Given the description of an element on the screen output the (x, y) to click on. 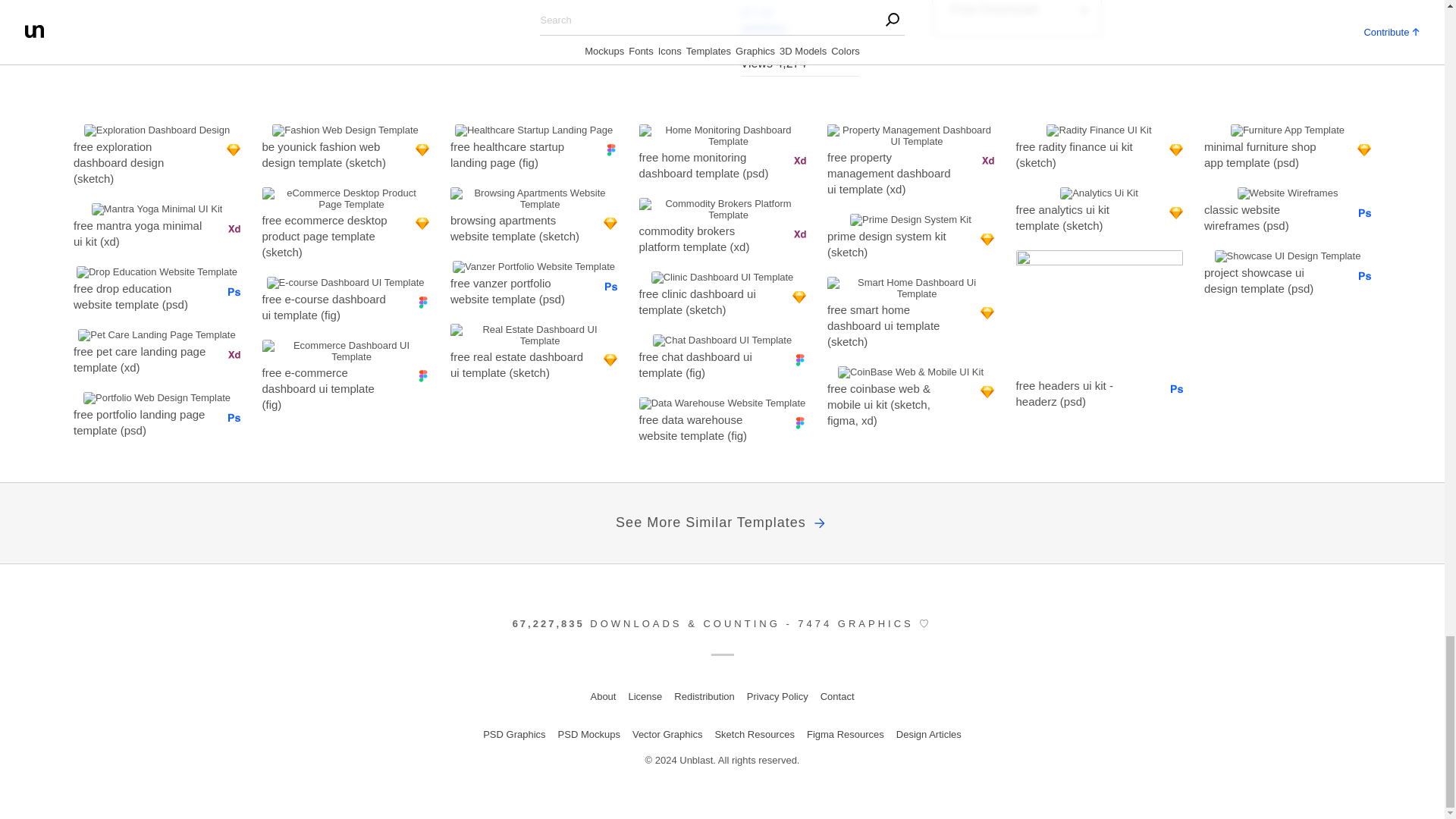
websites (799, 28)
Free Download (1015, 18)
